Given the description of an element on the screen output the (x, y) to click on. 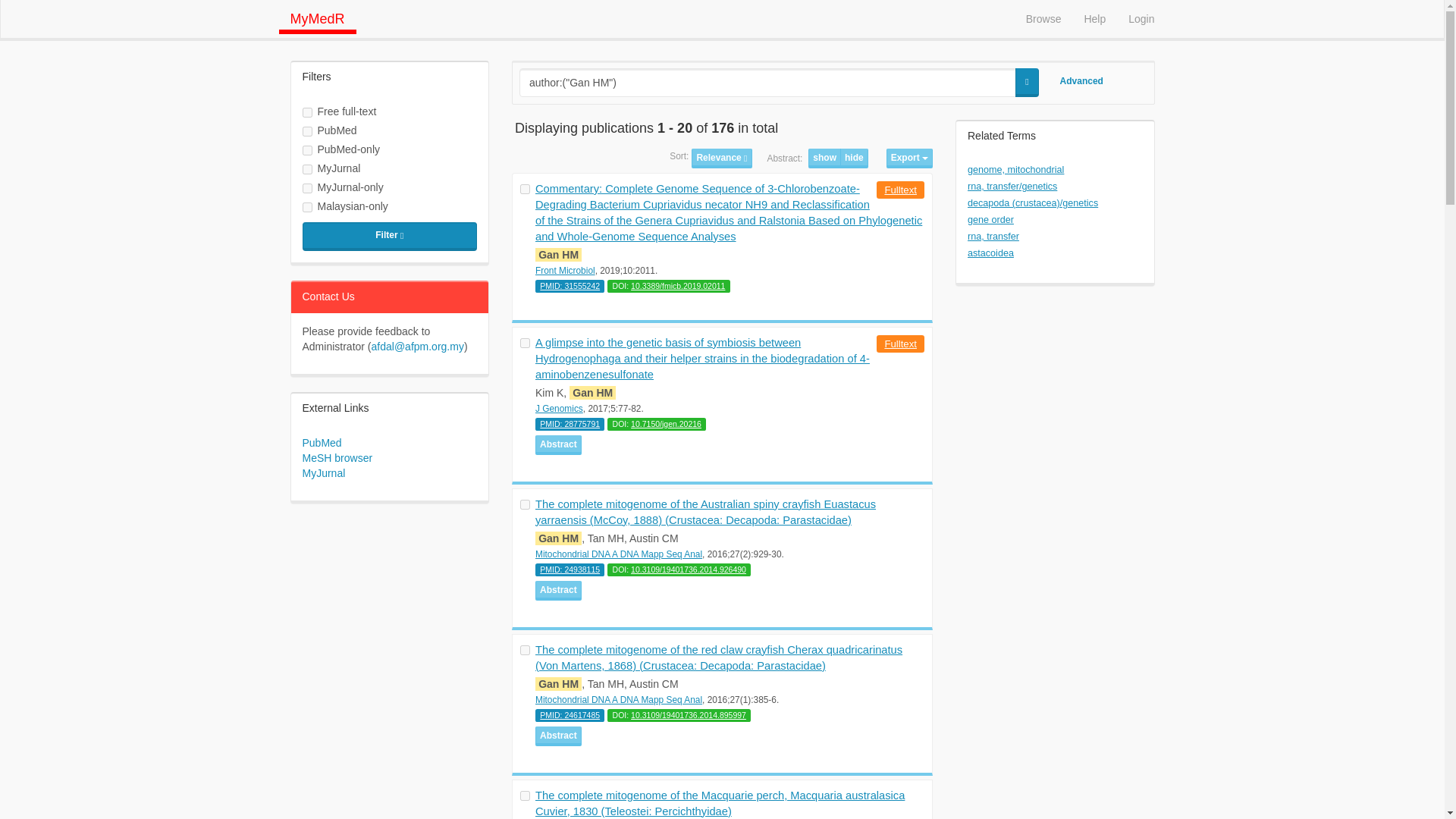
on (524, 343)
Relevance (721, 158)
Mitochondrial DNA A DNA Mapp Seq Anal (618, 553)
Front Microbiol (565, 270)
PMID: 28775791 (569, 423)
hide (853, 158)
Fulltext (900, 343)
PMID: 24938115 (569, 569)
Login (1141, 18)
on (524, 795)
MyMedR (317, 17)
Browse (1043, 18)
Export (909, 158)
show (824, 158)
